Given the description of an element on the screen output the (x, y) to click on. 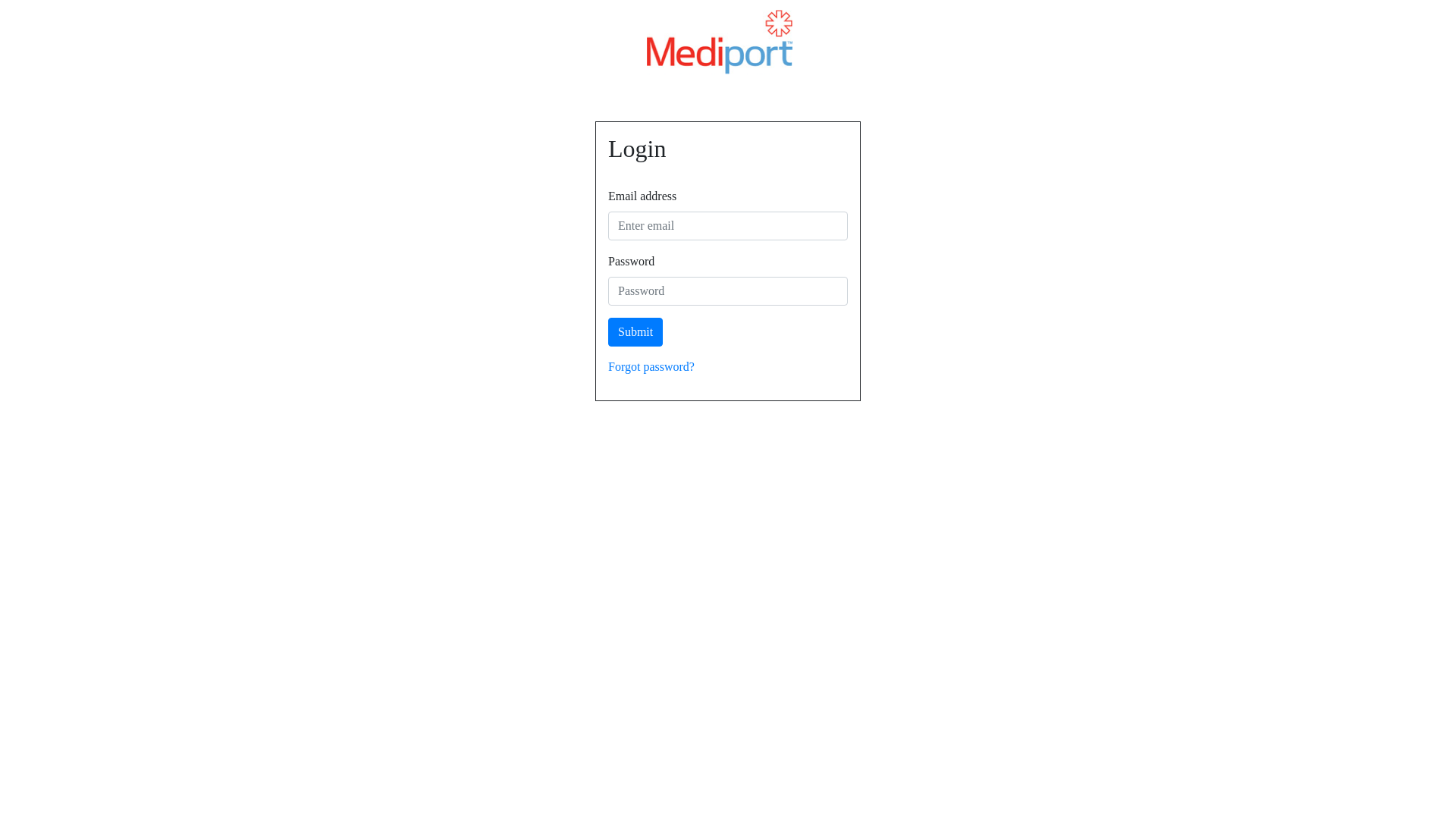
Submit Element type: text (635, 331)
Forgot password? Element type: text (651, 366)
